Given the description of an element on the screen output the (x, y) to click on. 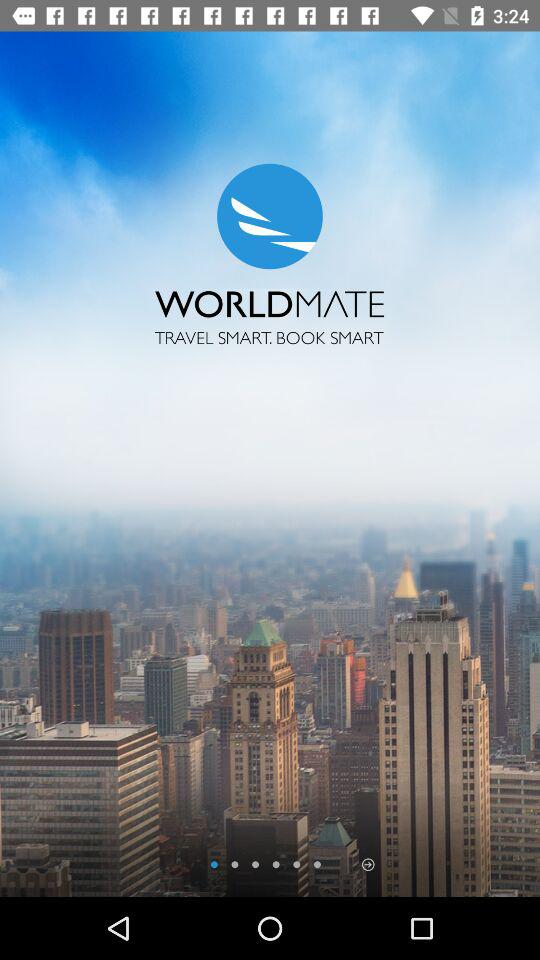
next slide (367, 864)
